Given the description of an element on the screen output the (x, y) to click on. 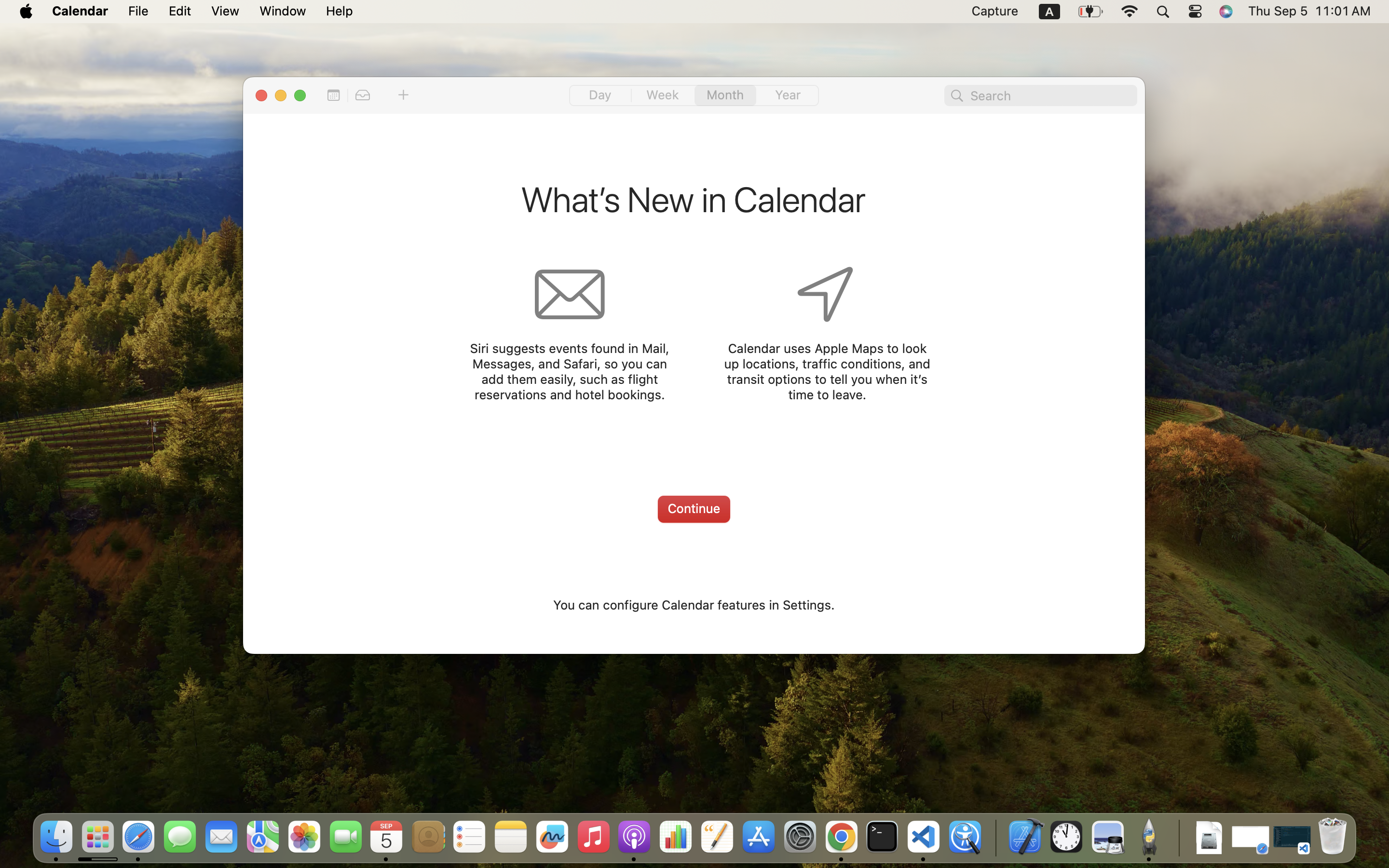
<AXUIElement 0x125c498e0> {pid=1173} Element type: AXRadioGroup (693, 95)
